Given the description of an element on the screen output the (x, y) to click on. 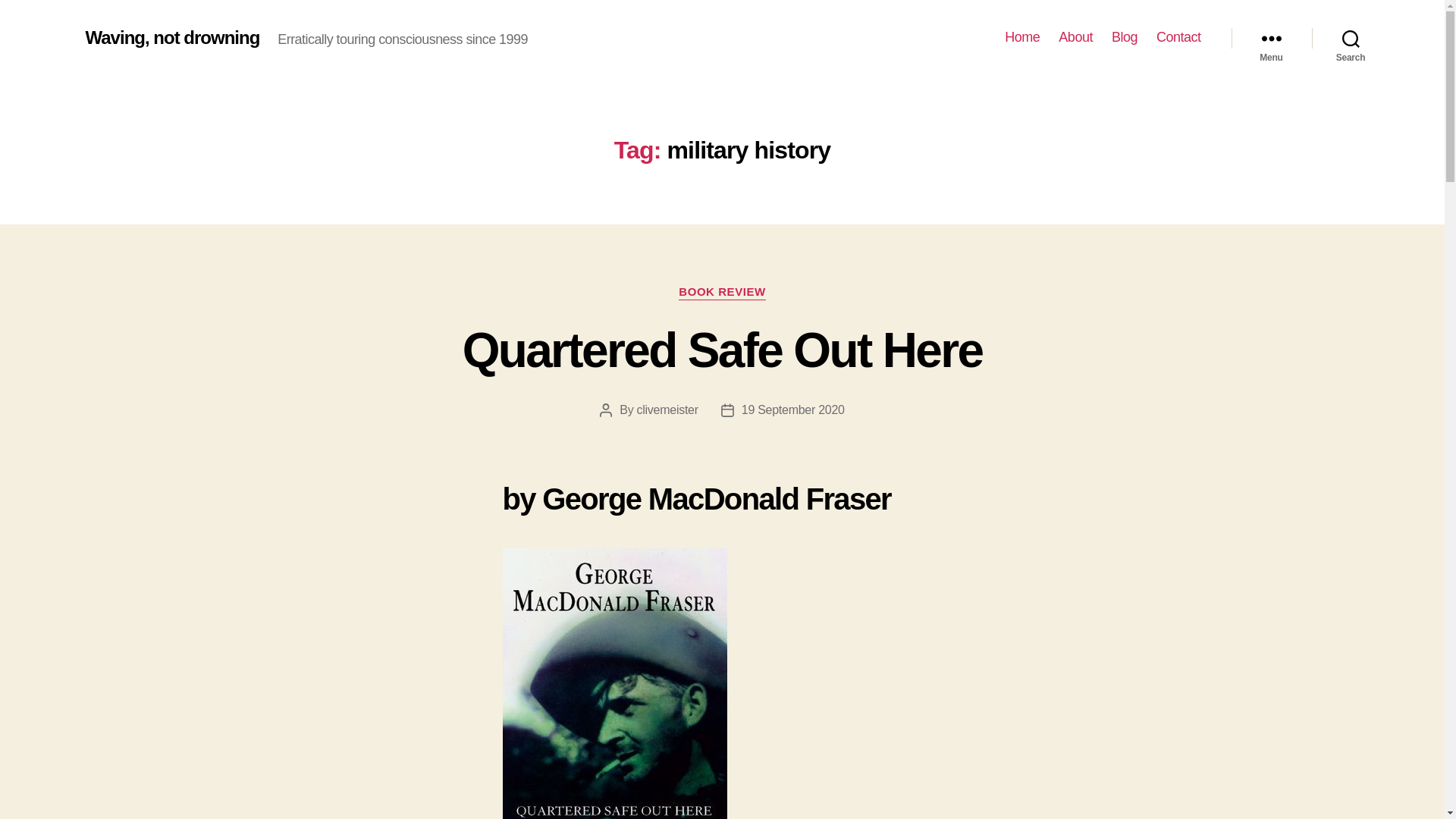
Search (1350, 37)
Quartered Safe Out Here (722, 349)
Home (1021, 37)
19 September 2020 (792, 409)
Blog (1124, 37)
BOOK REVIEW (721, 292)
About (1075, 37)
Waving, not drowning (171, 37)
Contact (1178, 37)
Menu (1271, 37)
clivemeister (667, 409)
